Given the description of an element on the screen output the (x, y) to click on. 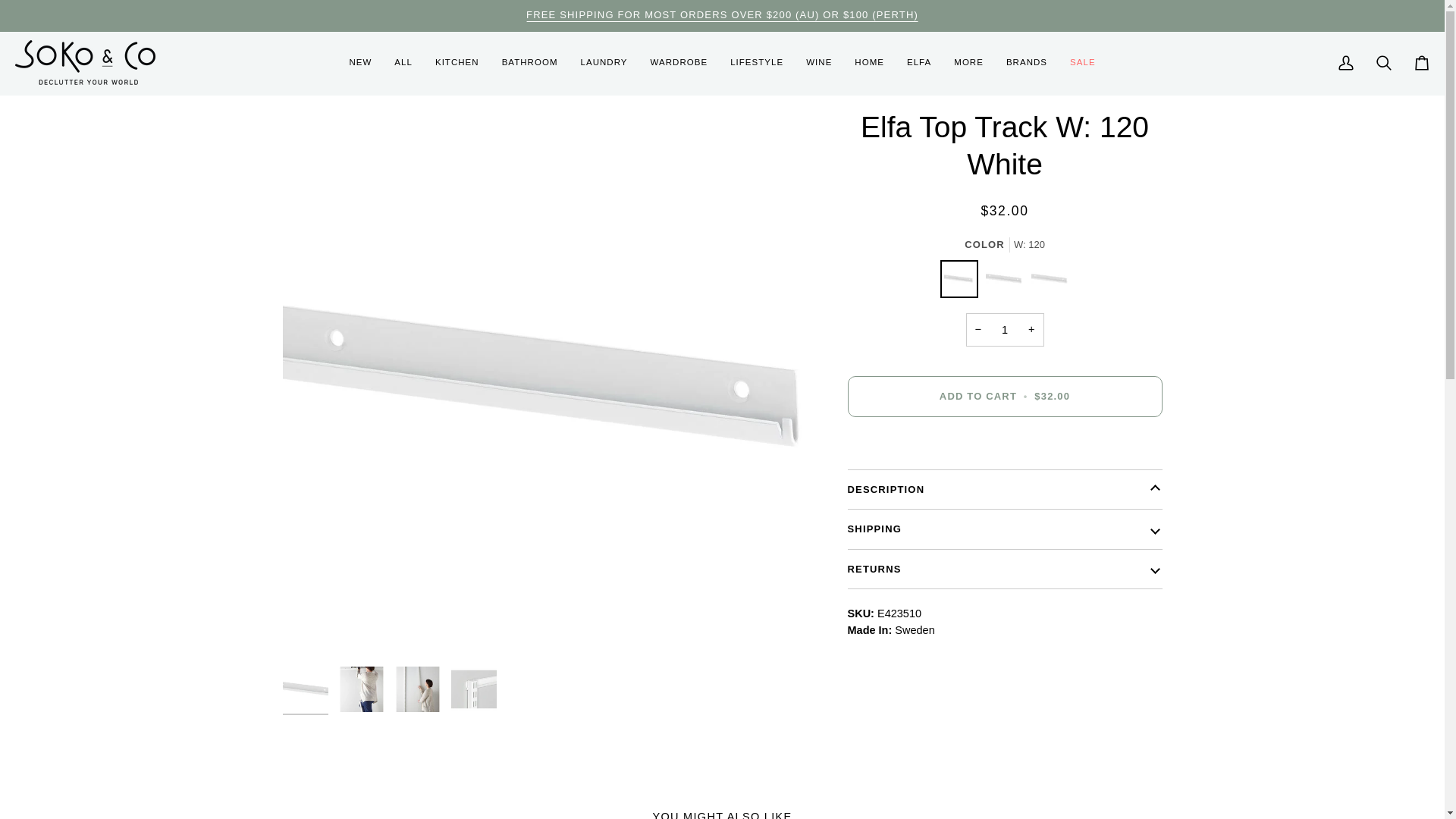
W: 120 (962, 282)
BATHROOM (529, 63)
1 (1004, 329)
KITCHEN (456, 63)
W: 180 (1007, 282)
Shipping Policy (721, 14)
